Given the description of an element on the screen output the (x, y) to click on. 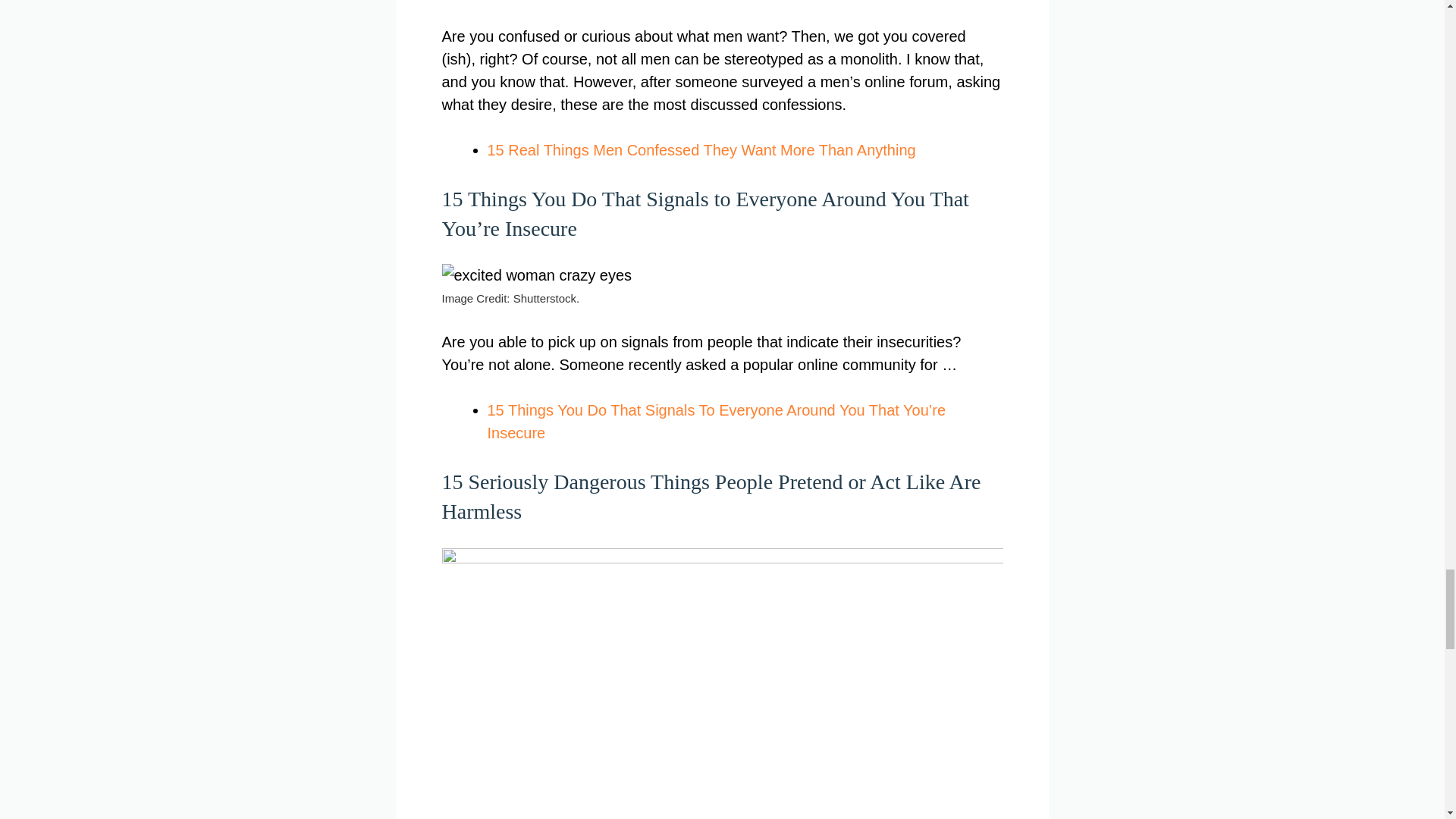
15 Real Things Men Confessed They Want More Than Anything (700, 149)
